Given the description of an element on the screen output the (x, y) to click on. 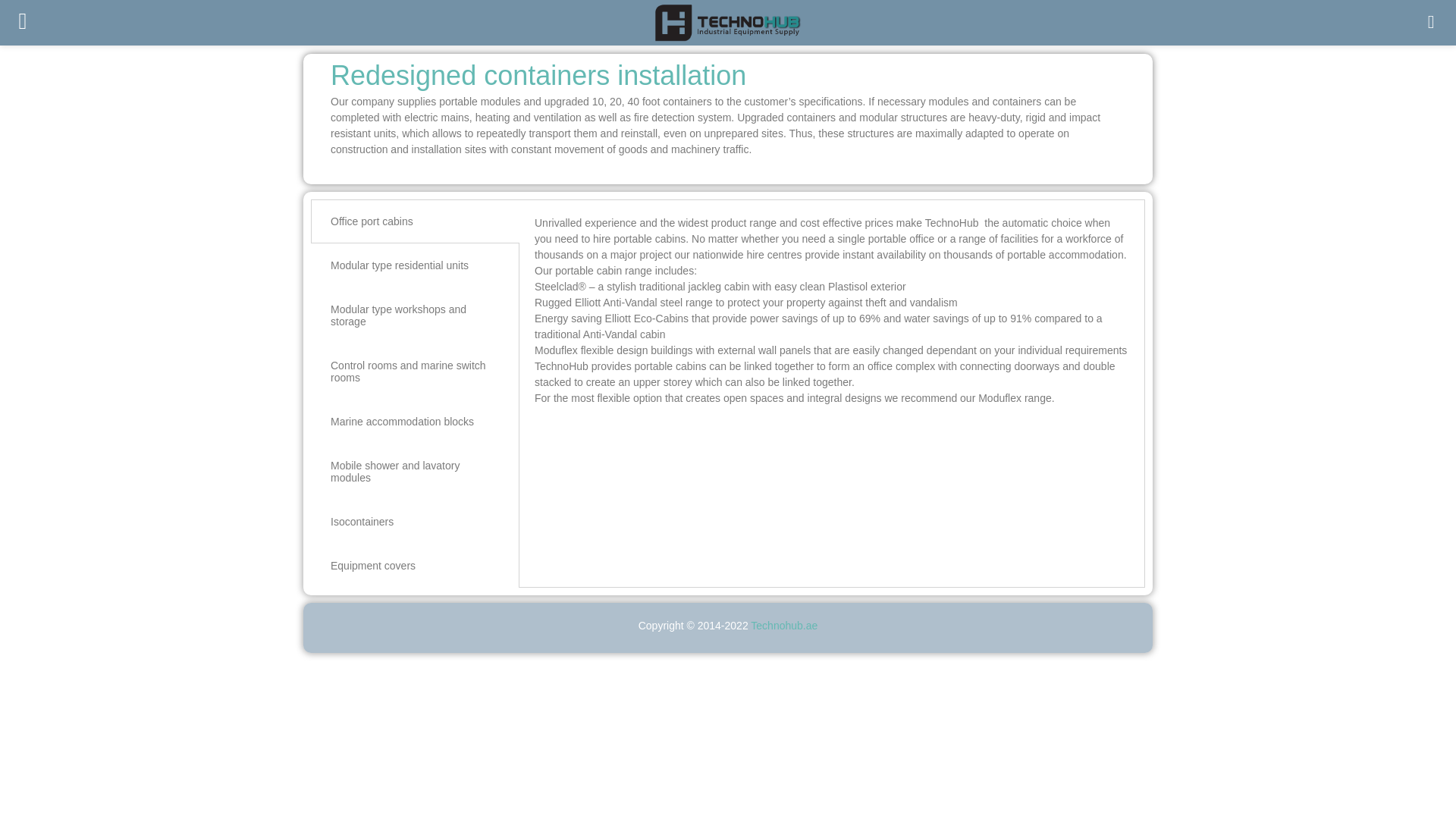
Technohub.ae (783, 625)
